Given the description of an element on the screen output the (x, y) to click on. 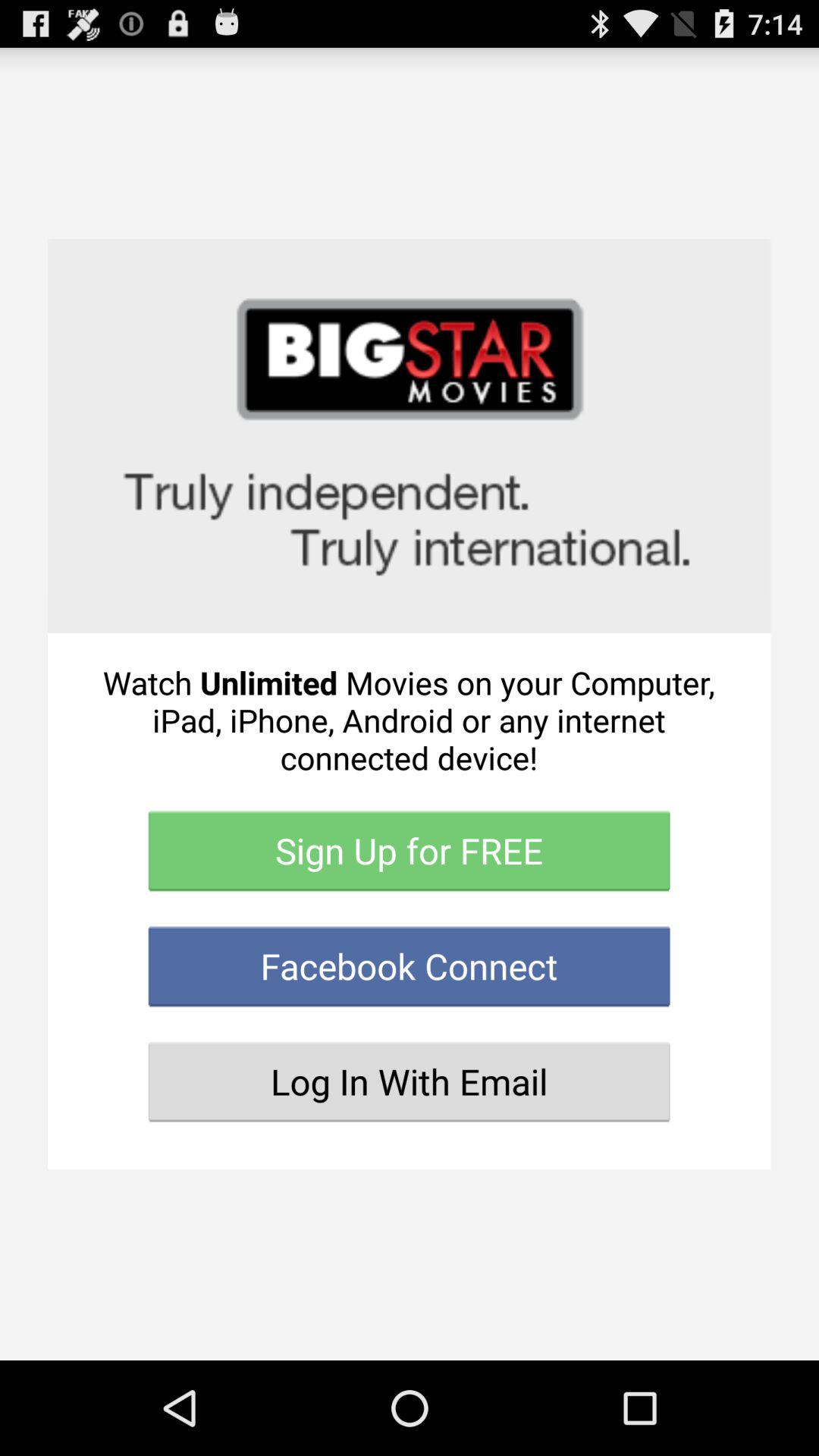
choose the button below facebook connect icon (408, 1081)
